Given the description of an element on the screen output the (x, y) to click on. 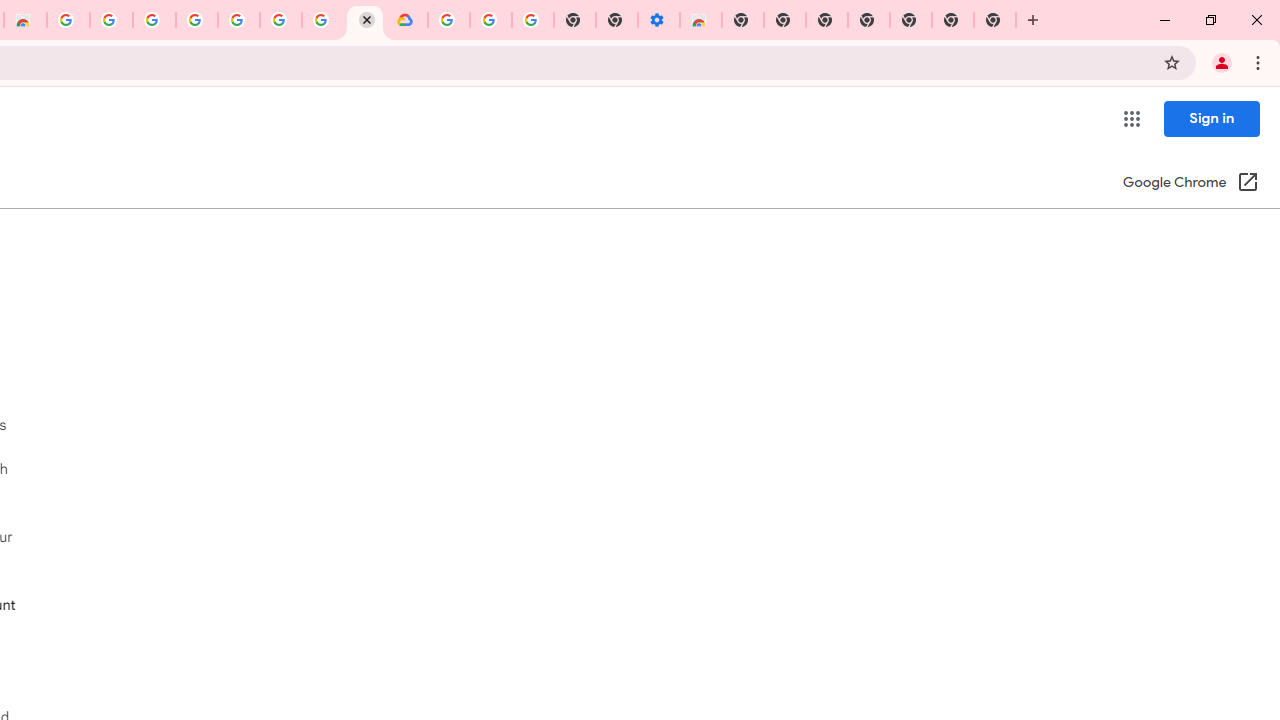
Chrome Web Store - Accessibility extensions (700, 20)
New Tab (742, 20)
New Tab (995, 20)
Sign in - Google Accounts (448, 20)
Create your Google Account (323, 20)
Google Account Help (490, 20)
